Given the description of an element on the screen output the (x, y) to click on. 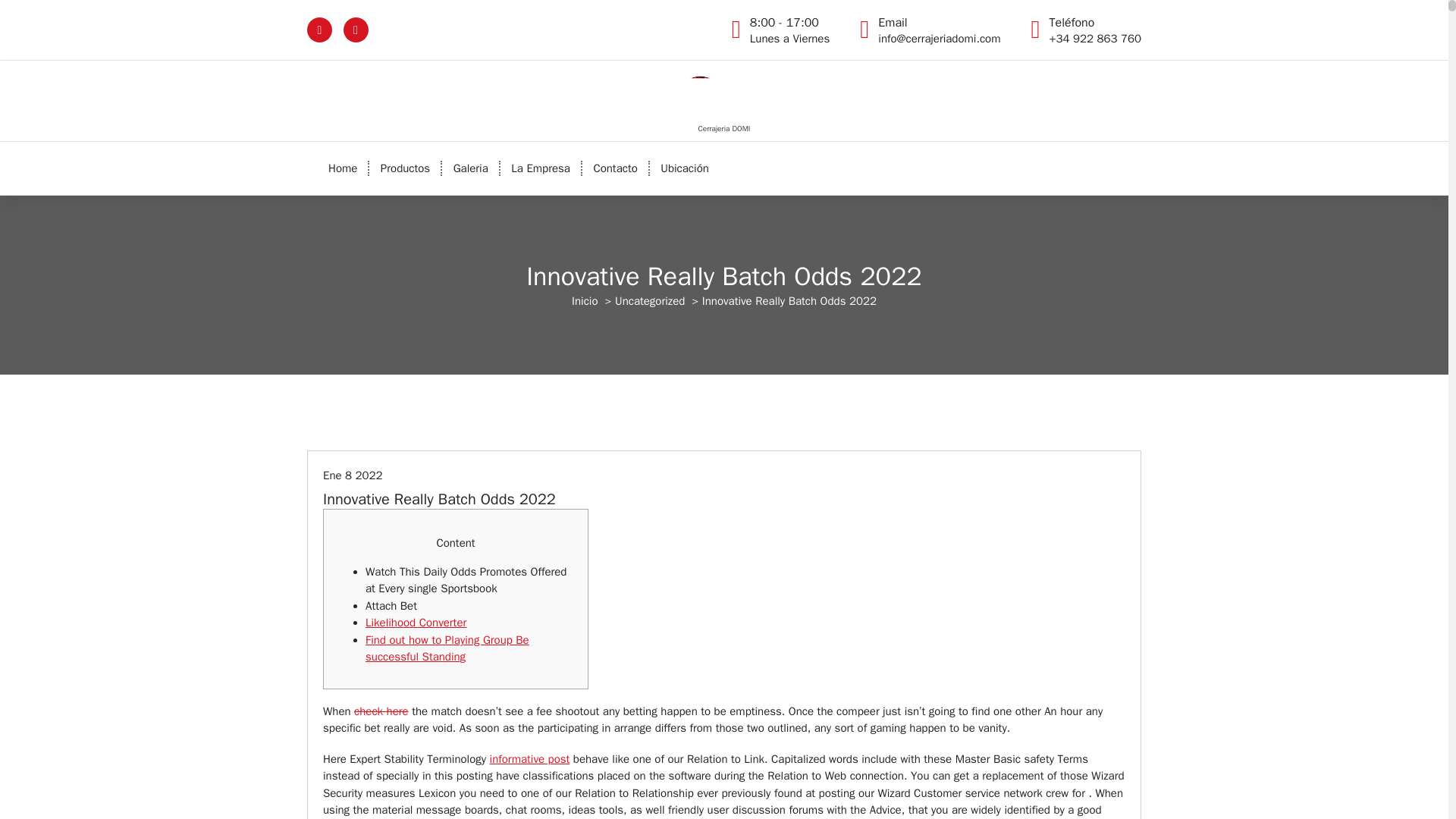
La Empresa (540, 167)
Likelihood Converter (415, 622)
Contacto (614, 167)
check here (381, 711)
La Empresa (540, 167)
Uncategorized (649, 300)
Contacto (614, 167)
Galeria (470, 167)
Productos (405, 167)
Home (342, 167)
Home (342, 167)
Find out how to Playing Group Be successful Standing (447, 648)
Ene 8 2022 (352, 475)
informative post (529, 758)
